Given the description of an element on the screen output the (x, y) to click on. 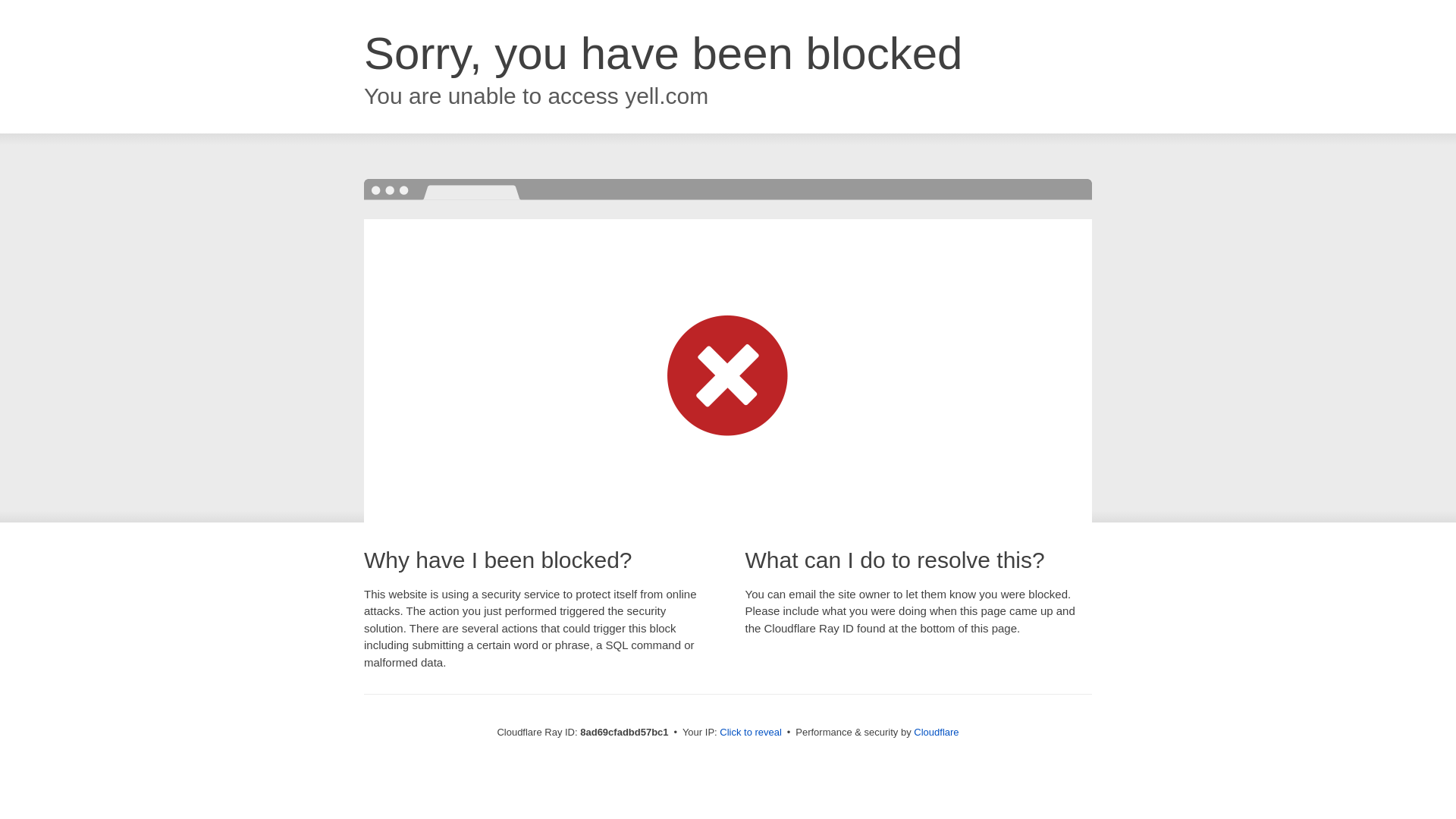
Click to reveal (750, 732)
Cloudflare (936, 731)
